Given the description of an element on the screen output the (x, y) to click on. 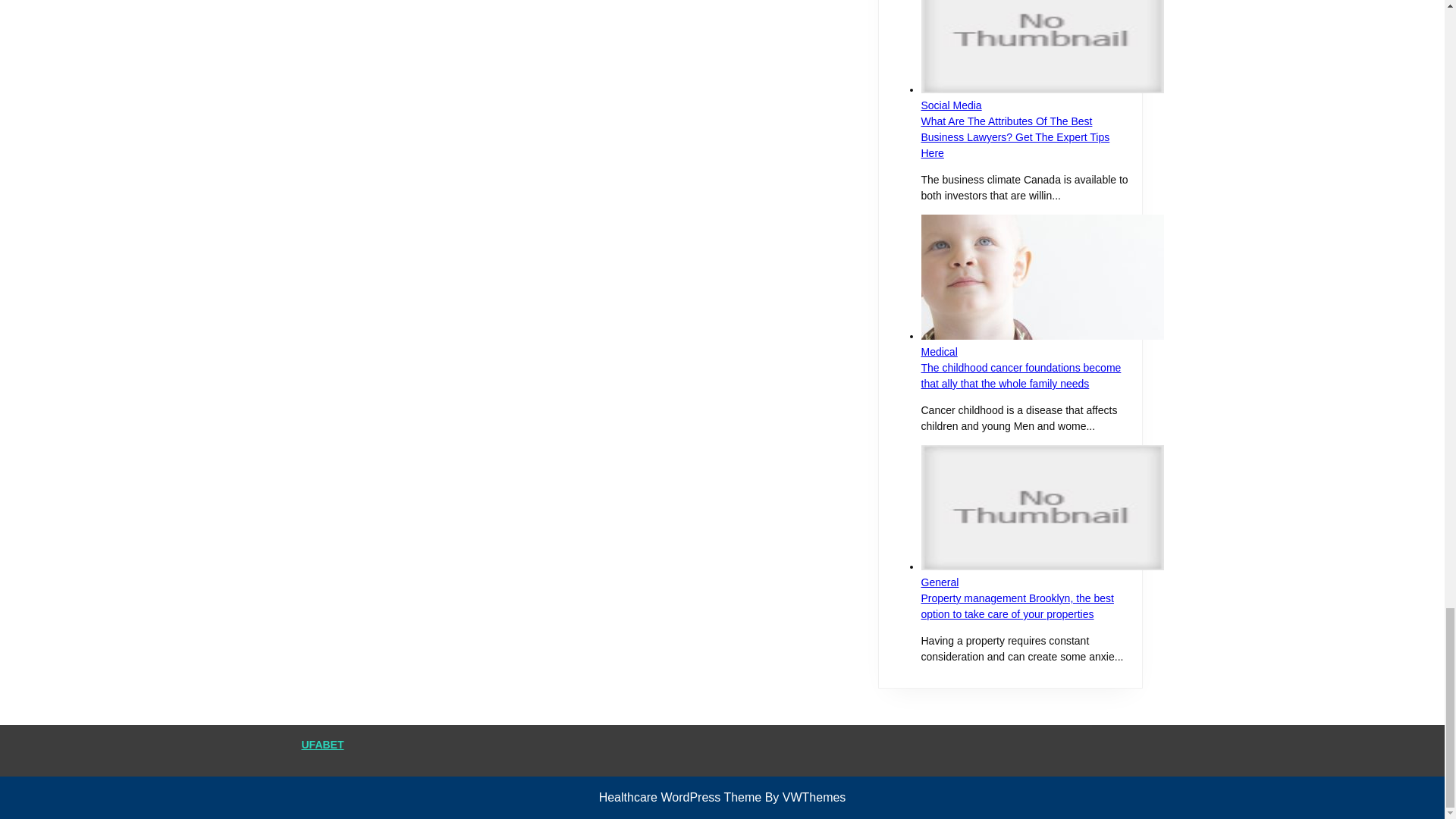
UFABET (322, 744)
